Given the description of an element on the screen output the (x, y) to click on. 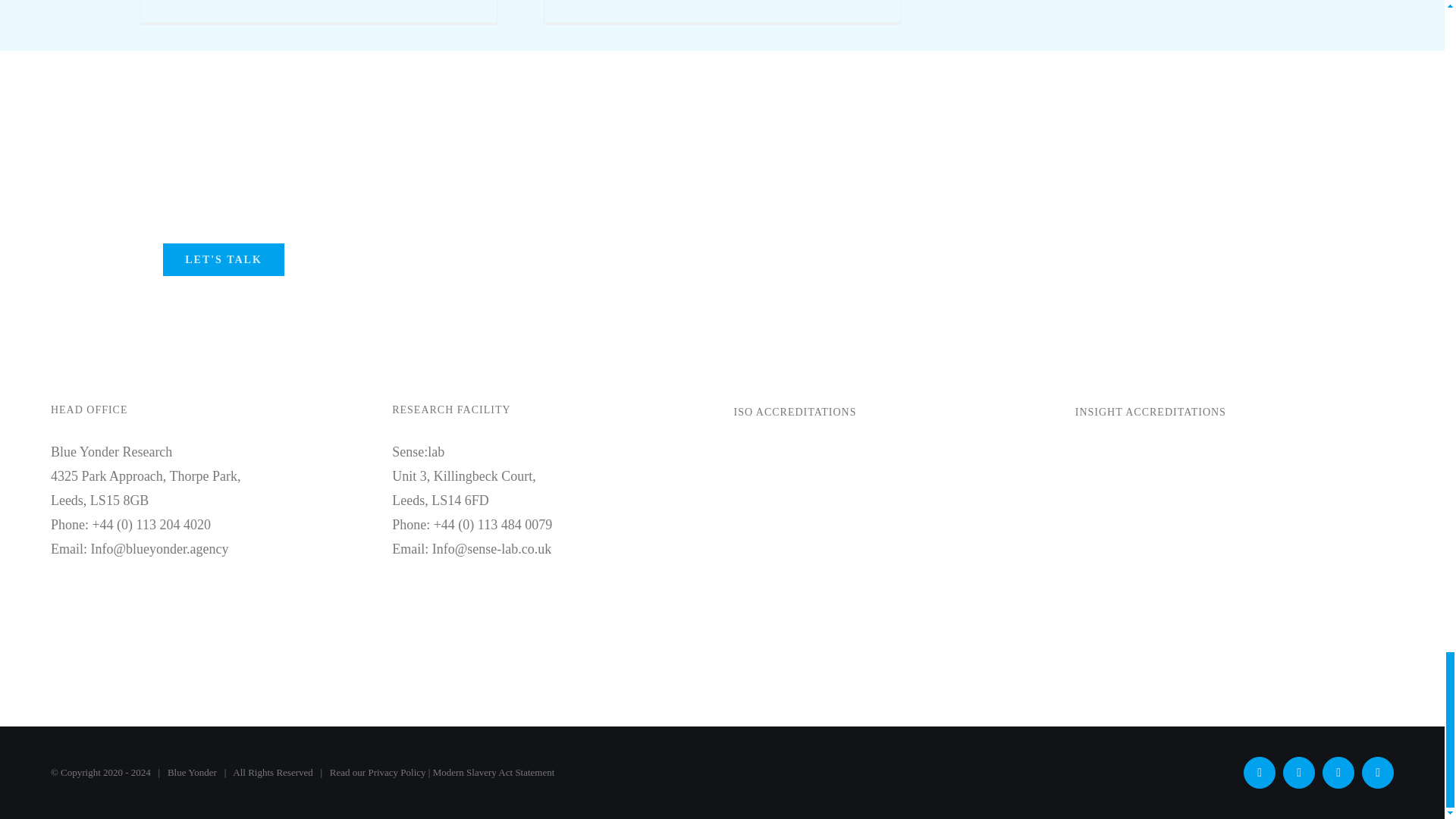
YouTube (1298, 772)
Instagram (1338, 772)
X (1259, 772)
LinkedIn (1377, 772)
